Given the description of an element on the screen output the (x, y) to click on. 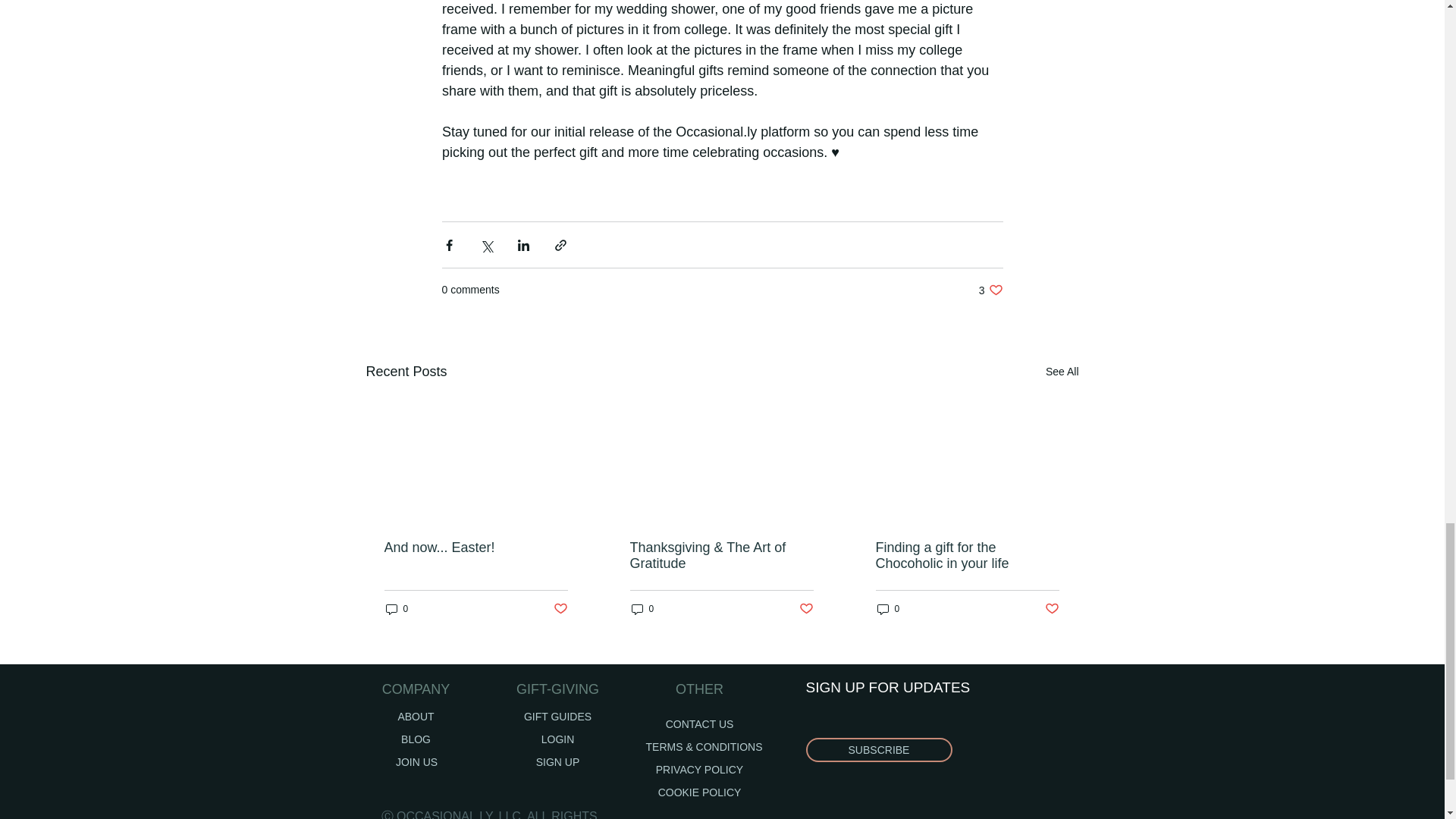
0 (888, 608)
0 (396, 608)
0 (990, 289)
And now... Easter! (641, 608)
COOKIE POLICY (475, 547)
Post not marked as liked (700, 792)
Finding a gift for the Chocoholic in your life (806, 609)
Post not marked as liked (966, 555)
CONTACT US (1052, 609)
Post not marked as liked (700, 723)
SIGN UP (560, 609)
JOIN US (557, 762)
SUBSCRIBE (416, 762)
See All (878, 749)
